Given the description of an element on the screen output the (x, y) to click on. 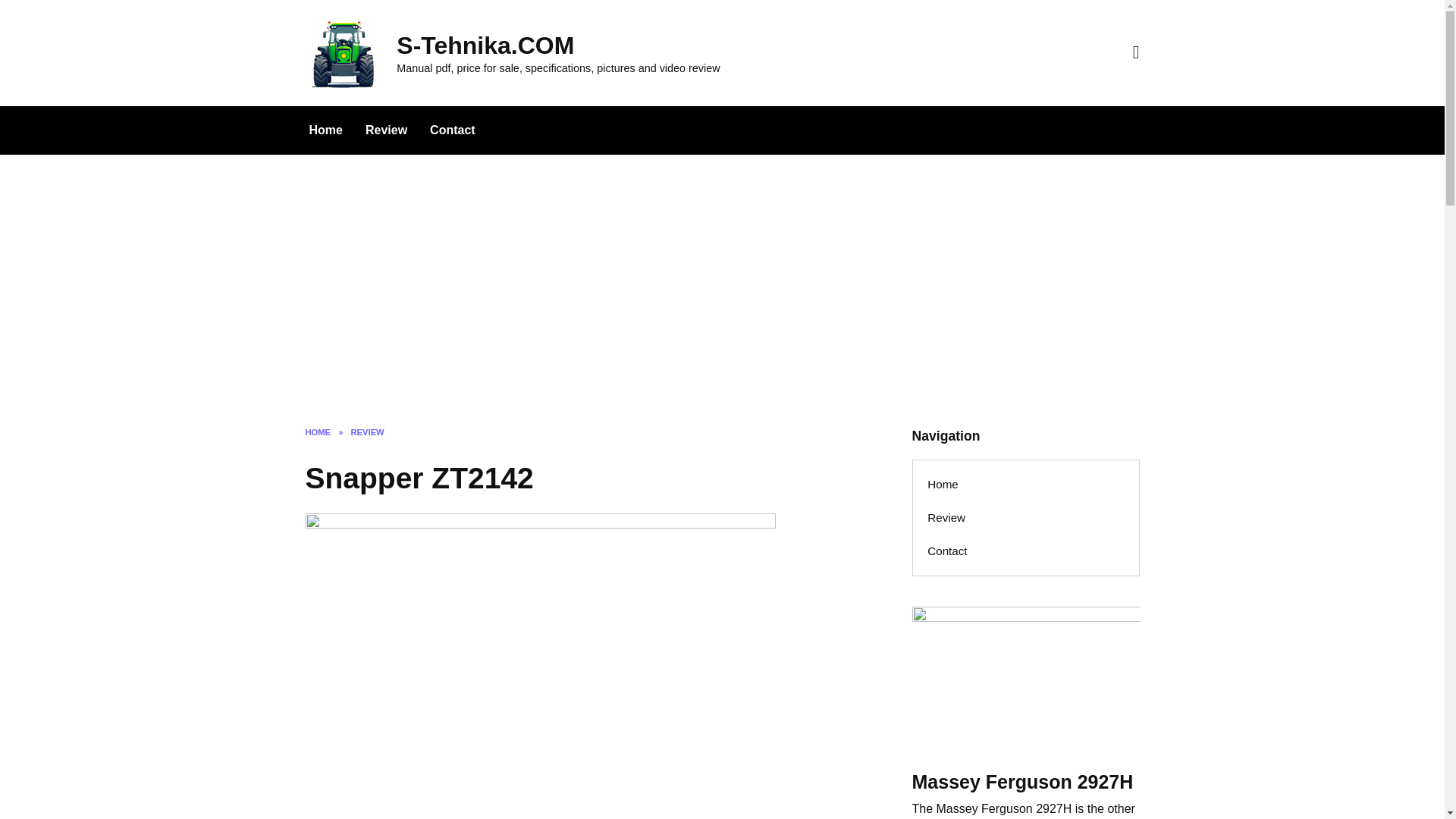
Contact (1025, 551)
Contact (452, 130)
Review (386, 130)
Review (1025, 517)
HOME (317, 431)
REVIEW (367, 431)
Home (1025, 484)
S-Tehnika.COM (484, 44)
Home (325, 130)
Massey Ferguson 2927H (1021, 781)
